Given the description of an element on the screen output the (x, y) to click on. 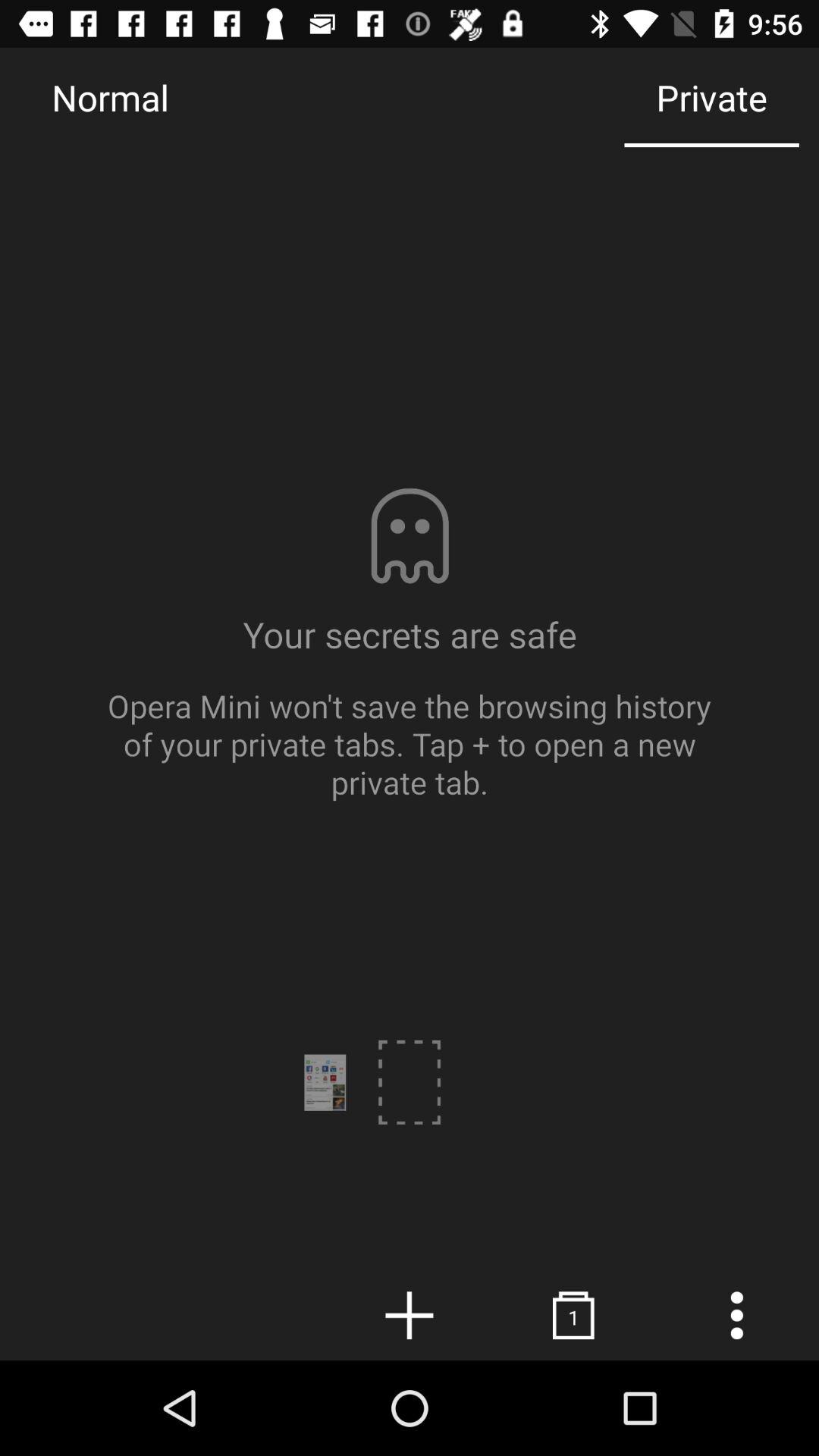
select the item at the top right corner (711, 97)
